Given the description of an element on the screen output the (x, y) to click on. 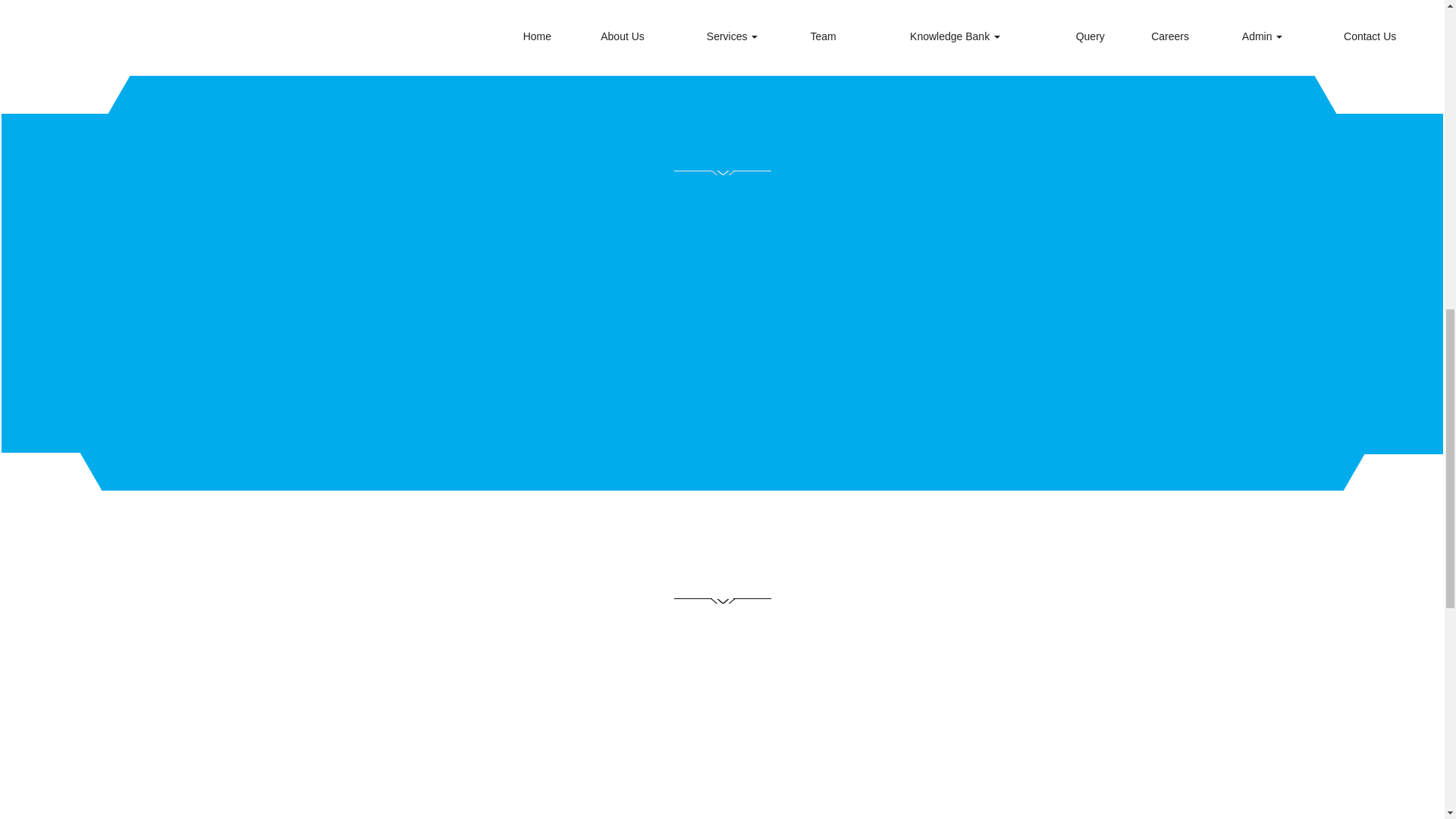
Knowledge Bank  (955, 36)
Home (537, 36)
About Us (622, 36)
Home (537, 36)
Services  (731, 36)
Team (823, 36)
Team (823, 36)
About Us (622, 36)
